Given the description of an element on the screen output the (x, y) to click on. 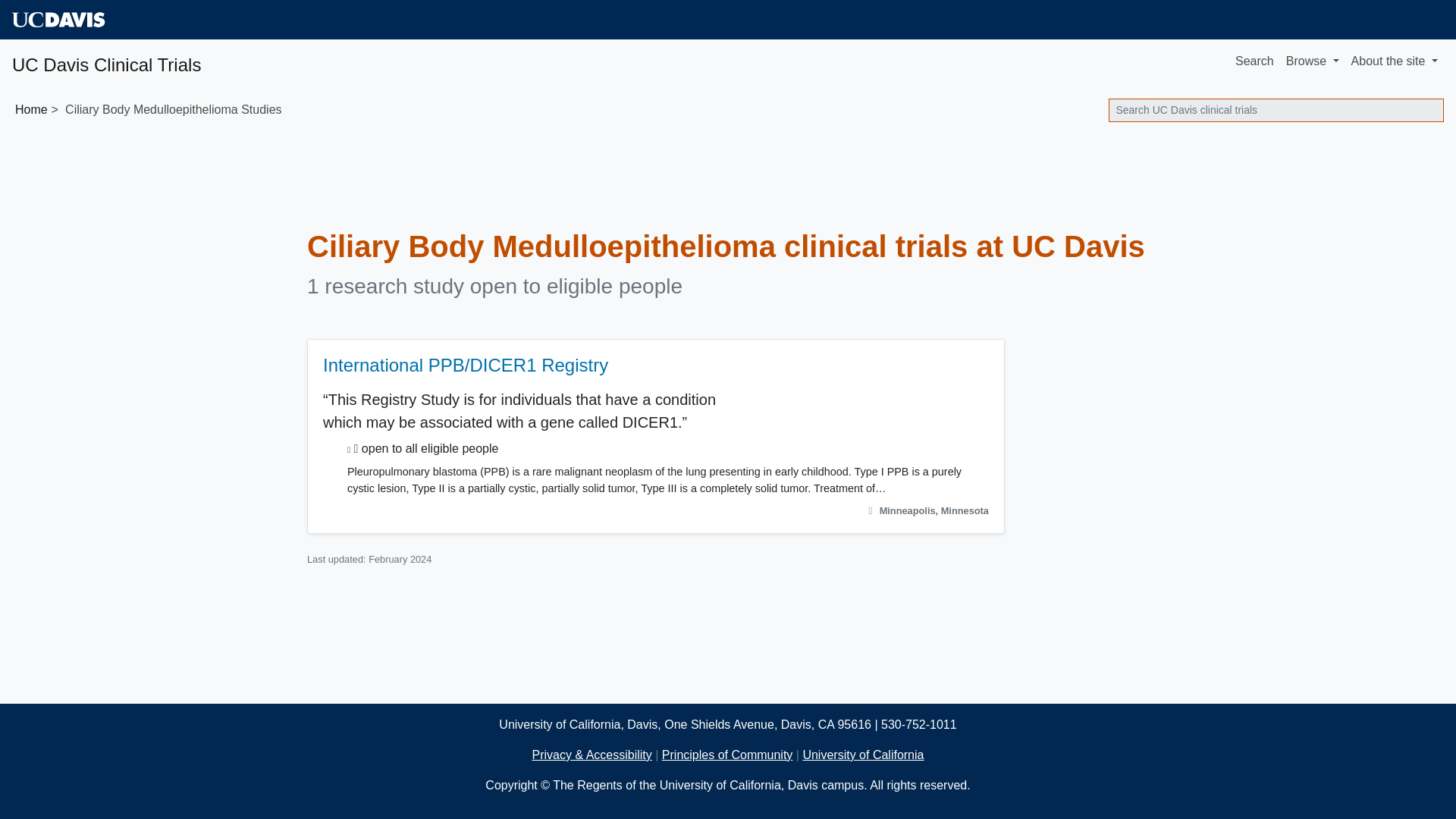
About the site (1394, 60)
University of California (862, 754)
Browse (1312, 60)
Principles of Community (727, 754)
Search (1253, 60)
Home (31, 109)
UC Davis Clinical Trials (105, 60)
Search clinical trials at UC Davis (1276, 110)
